Given the description of an element on the screen output the (x, y) to click on. 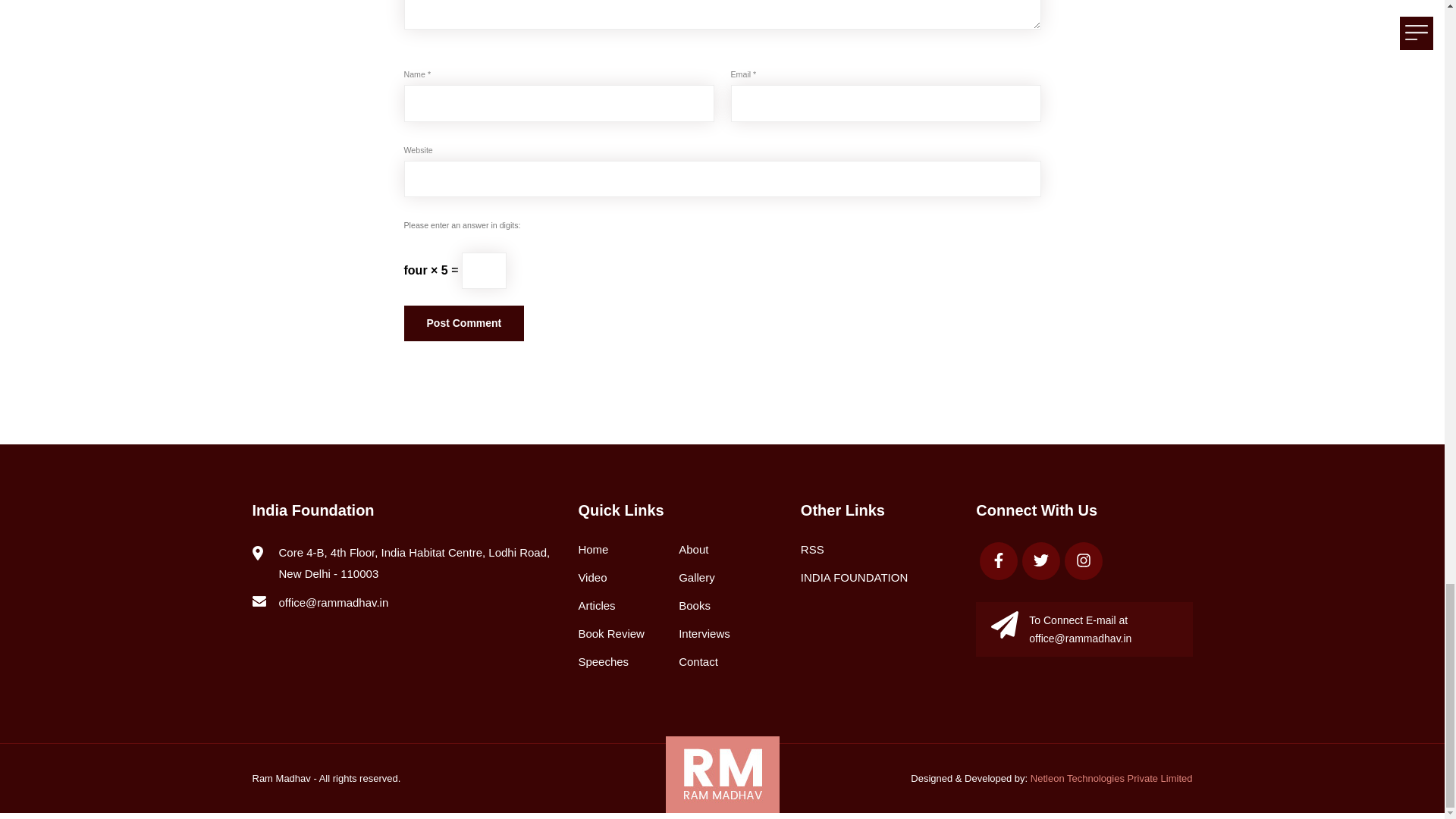
Post Comment (463, 323)
